Given the description of an element on the screen output the (x, y) to click on. 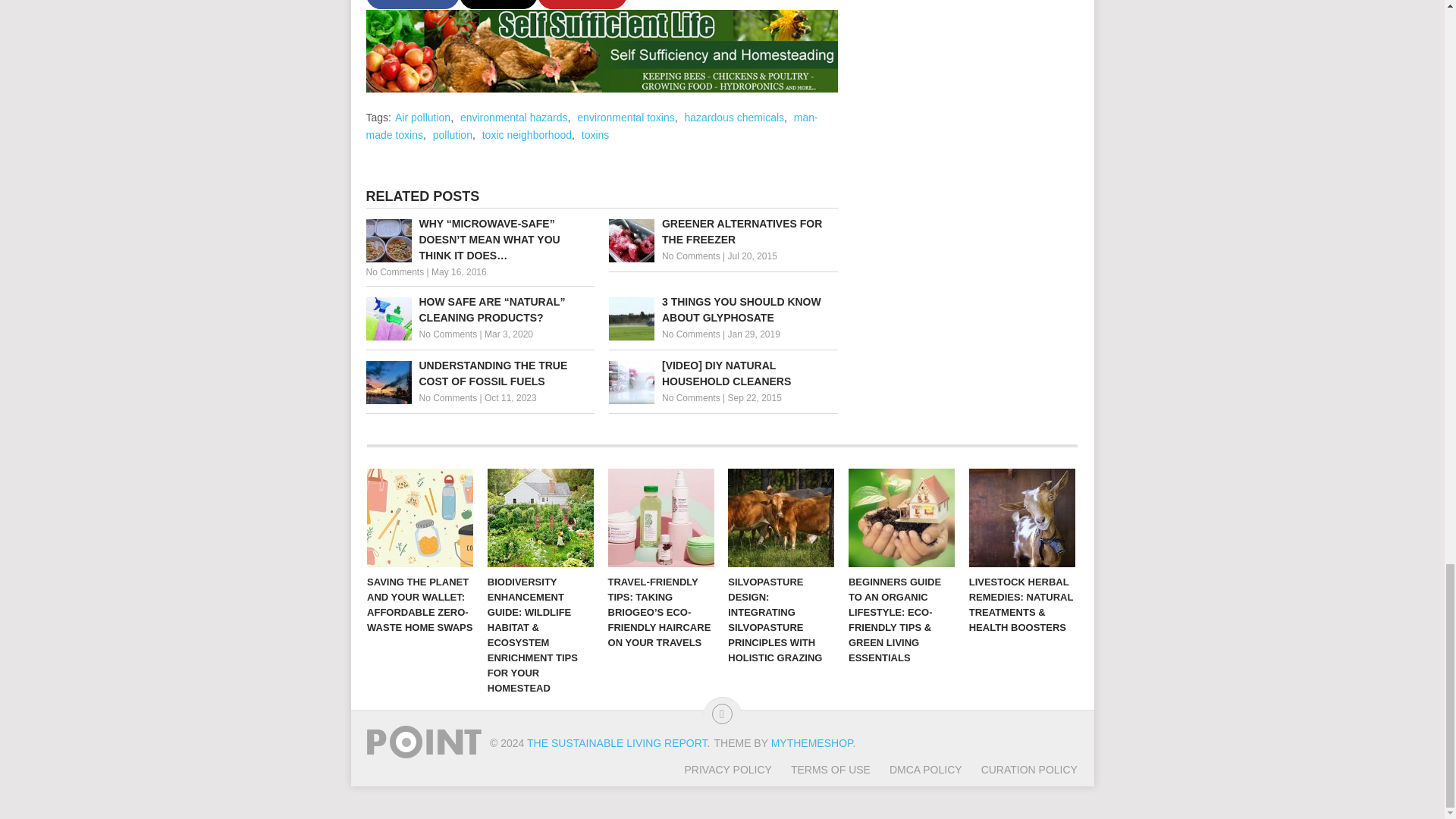
Facebook (411, 4)
Pinterest (582, 4)
Share on Facebook (411, 4)
environmental toxins (625, 117)
environmental hazards (513, 117)
Twitter (498, 4)
hazardous chemicals (734, 117)
Air pollution (421, 117)
